Given the description of an element on the screen output the (x, y) to click on. 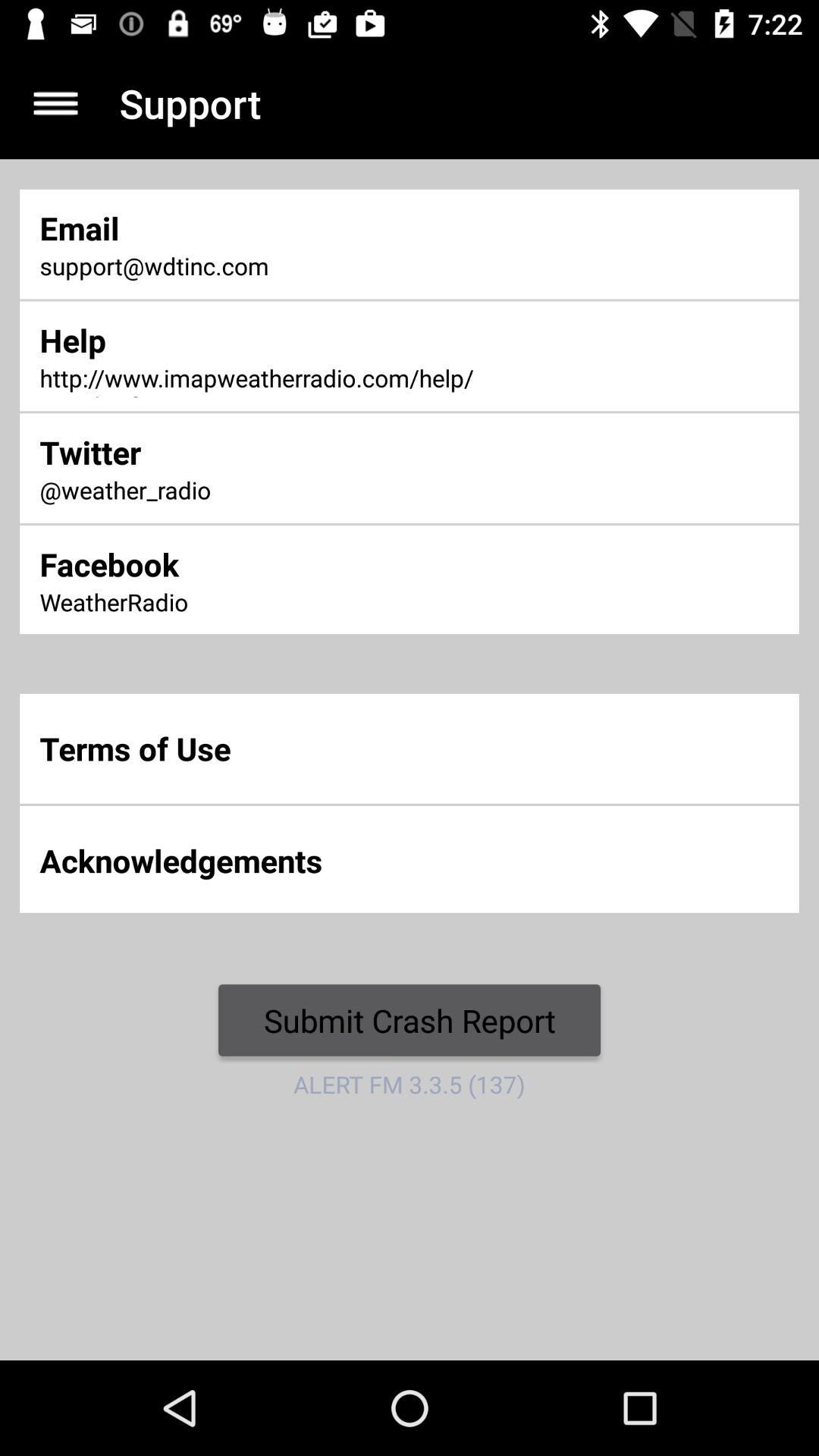
turn on the submit crash report icon (409, 1020)
